Given the description of an element on the screen output the (x, y) to click on. 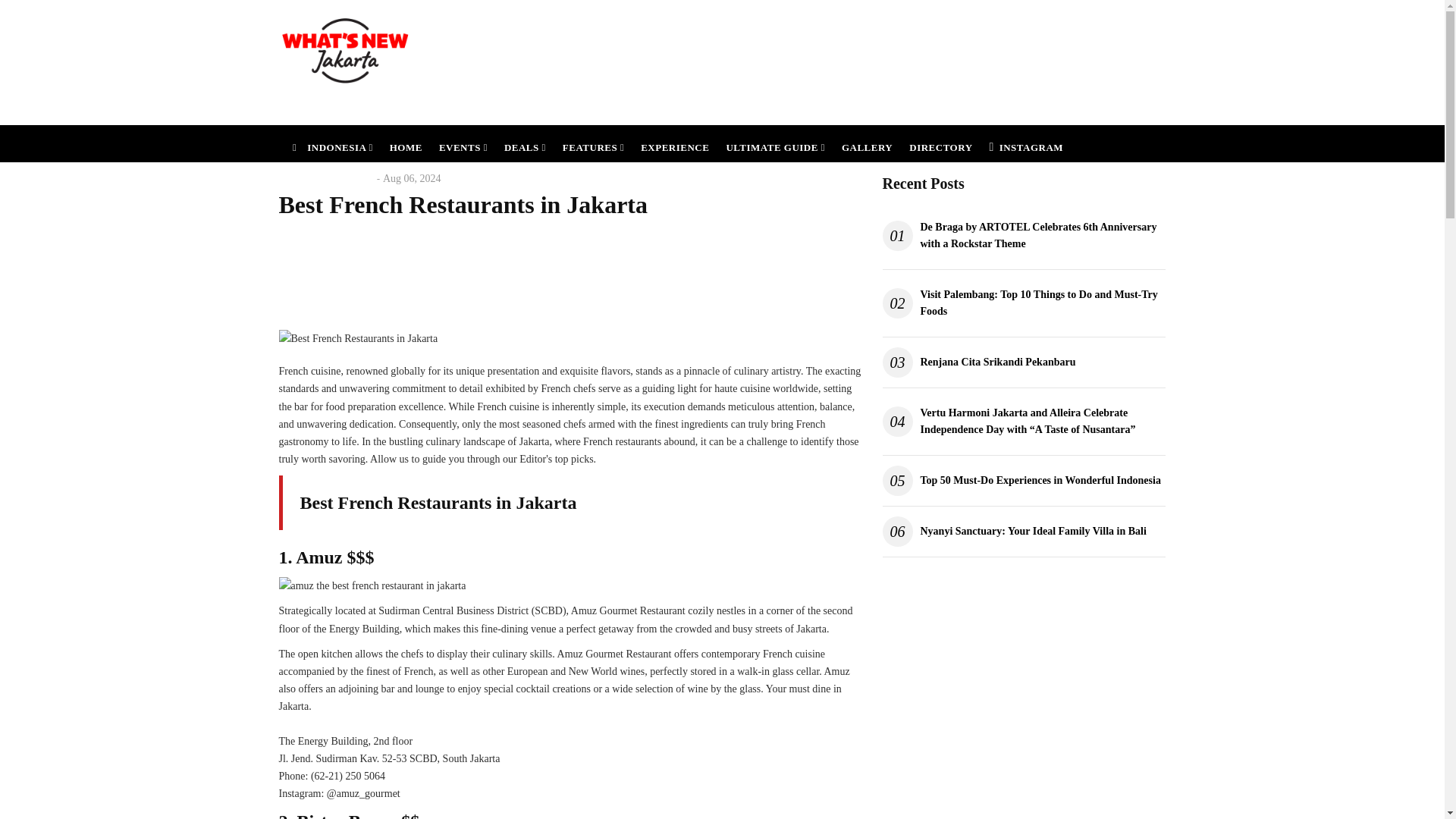
Share to X (571, 267)
HOME (405, 143)
INDONESIA (330, 143)
DEALS (525, 143)
Share to Facebook (546, 267)
EVENTS (463, 143)
FEATURES (592, 143)
Share to WhatsApp (595, 267)
